Given the description of an element on the screen output the (x, y) to click on. 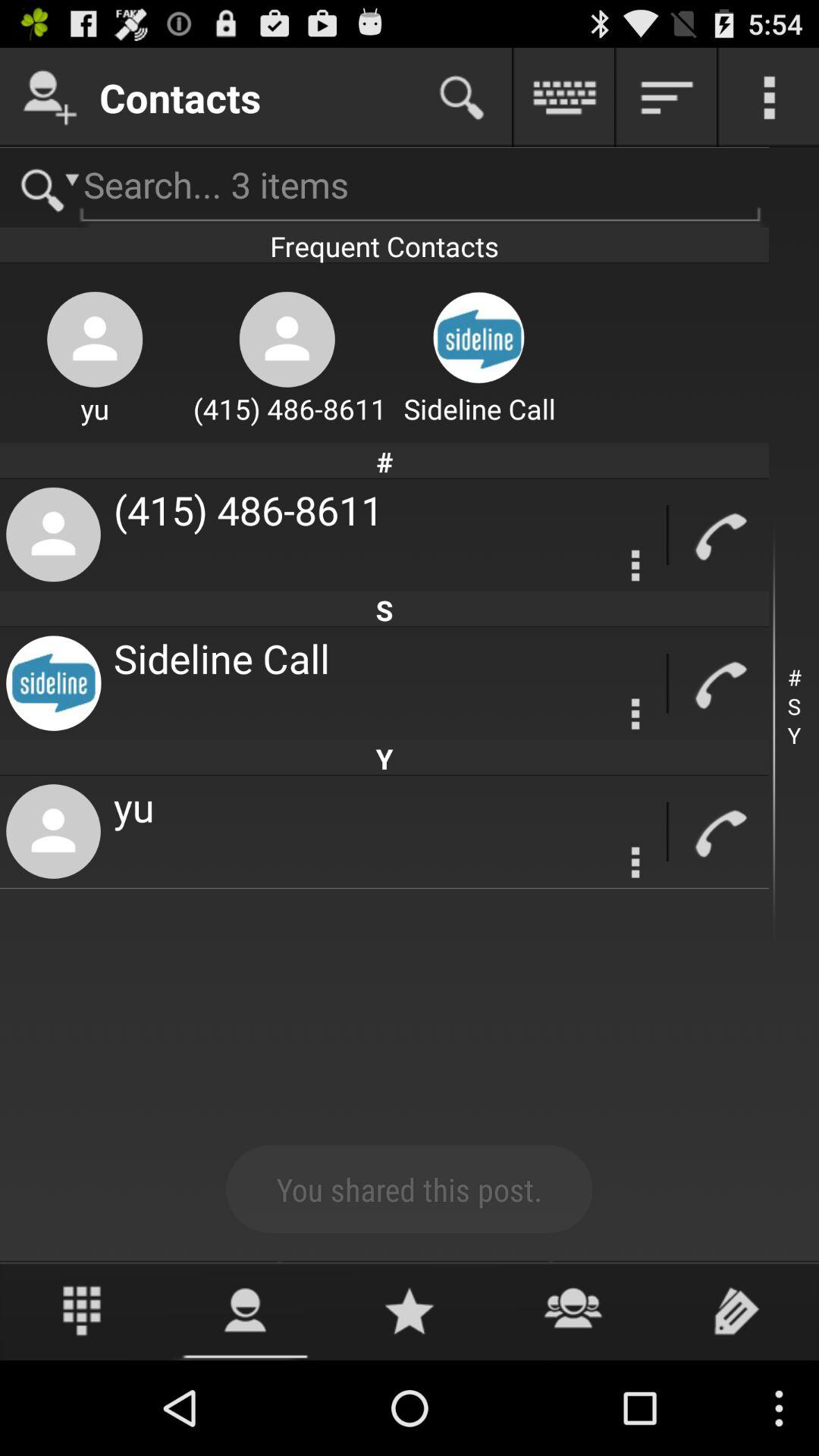
use phone dialer (81, 1310)
